Given the description of an element on the screen output the (x, y) to click on. 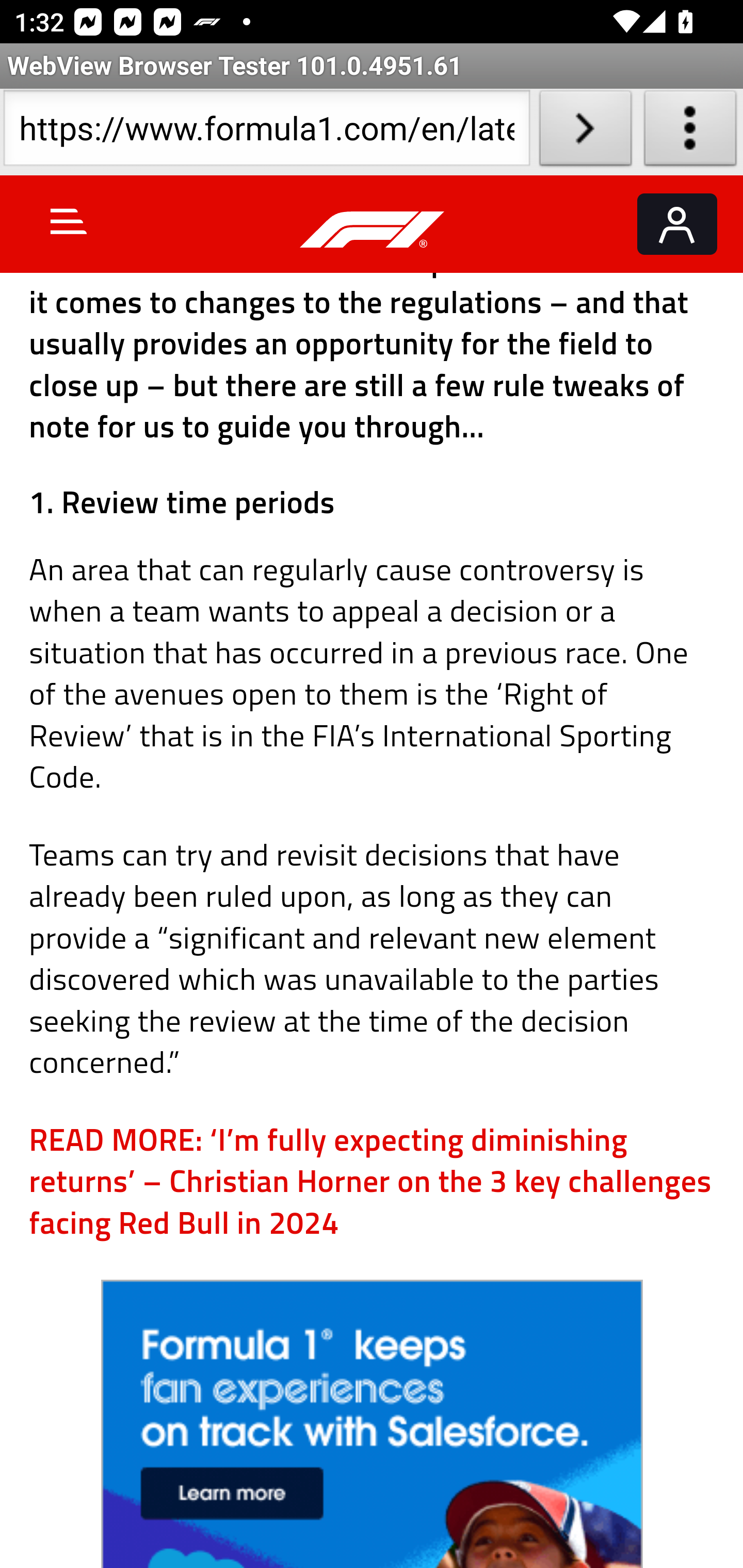
Load URL (585, 132)
About WebView (690, 132)
Toggle Menu (68, 220)
Formula 1 (372, 230)
 Login/Register  Login/Register (677, 223)
Advertisement (372, 1423)
